Given the description of an element on the screen output the (x, y) to click on. 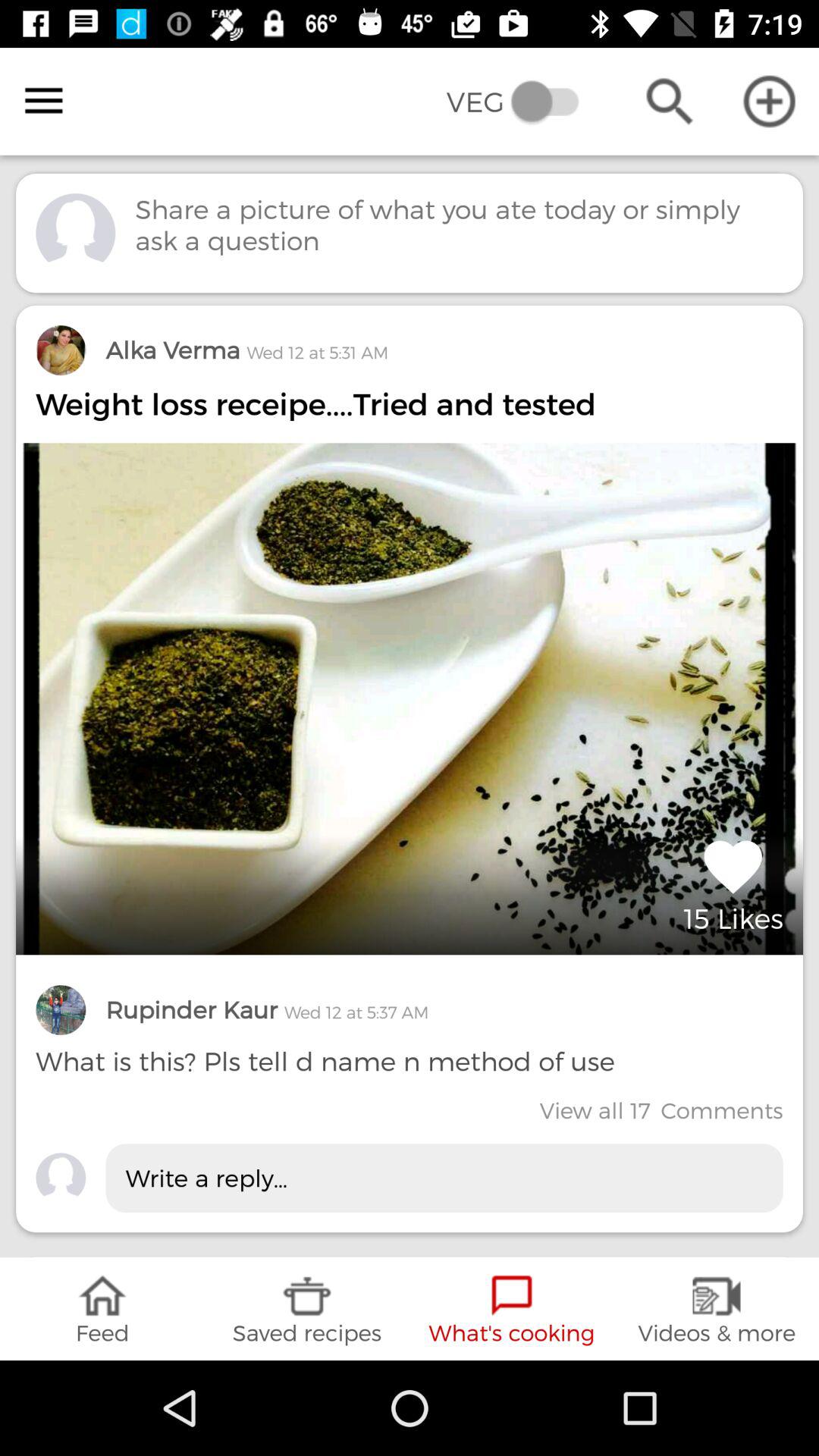
tap item next to the what's cooking icon (306, 1308)
